Given the description of an element on the screen output the (x, y) to click on. 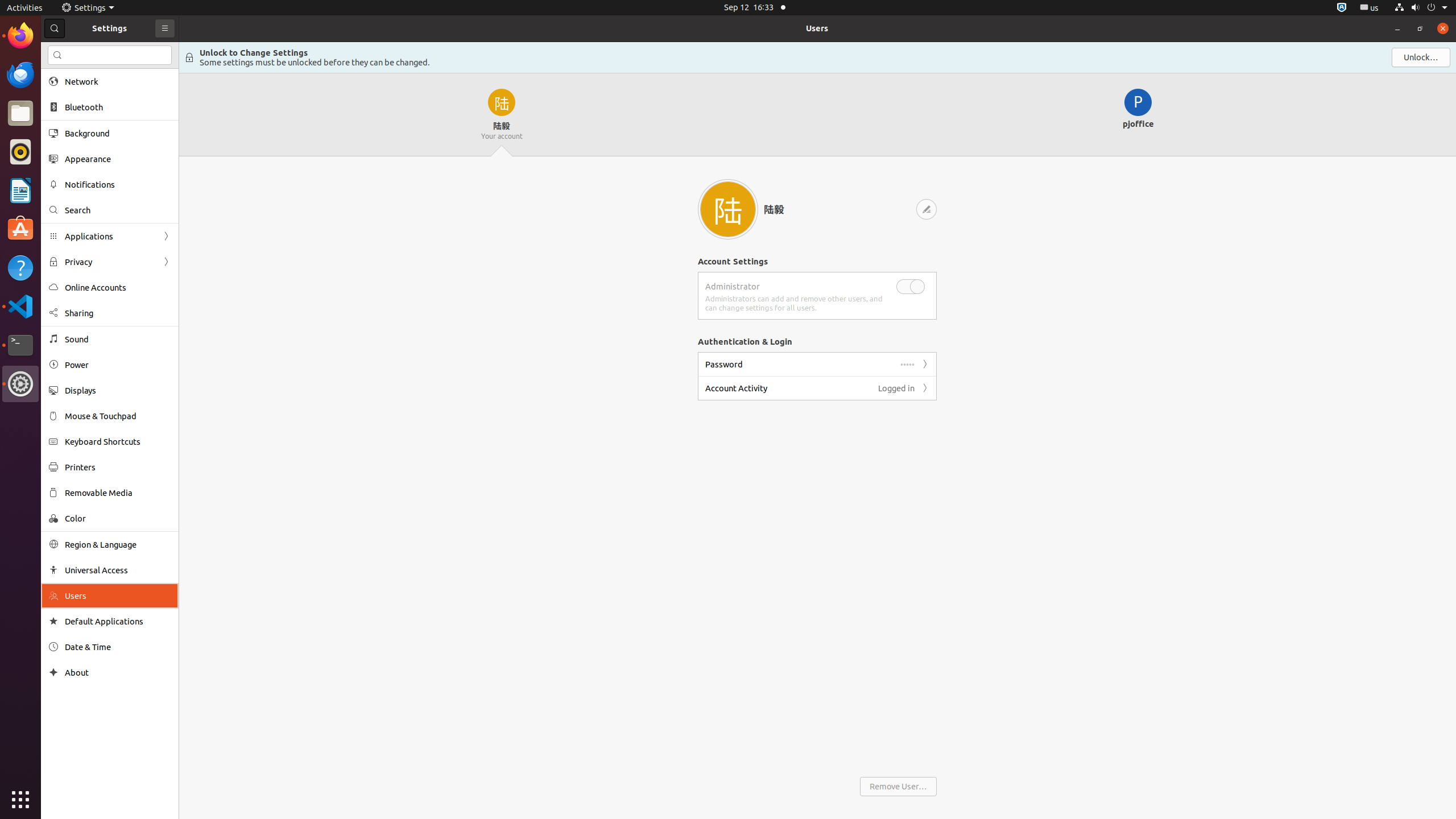
Administrators can add and remove other users, and can change settings for all users. Element type: label (800, 303)
Some settings must be unlocked before they can be changed. Element type: label (314, 62)
Appearance Element type: label (117, 158)
Logged in Element type: label (896, 388)
